Given the description of an element on the screen output the (x, y) to click on. 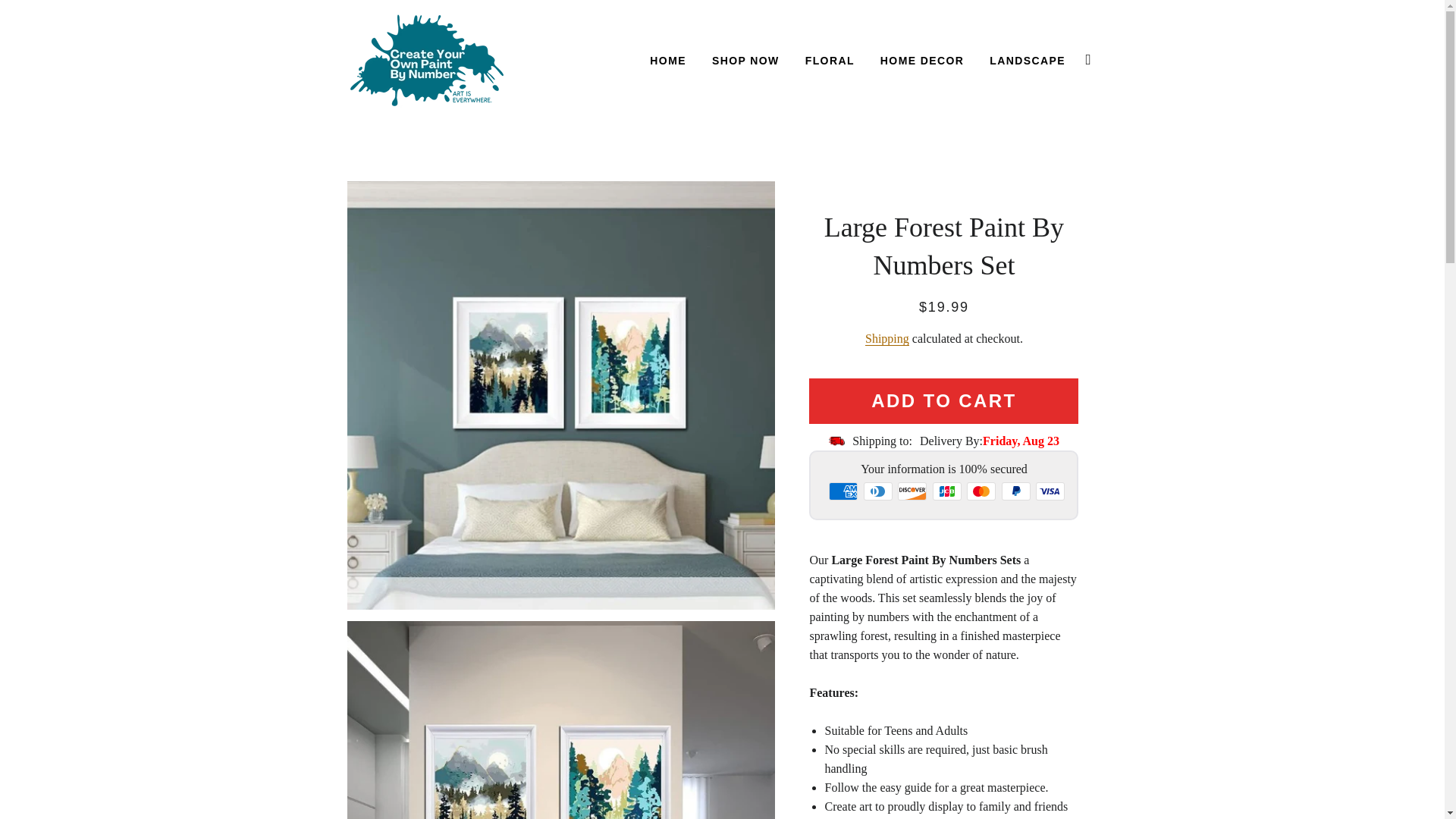
ADD TO CART (943, 401)
Shipping (886, 338)
PayPal (1015, 491)
Mastercard (980, 491)
American Express (842, 491)
JCB (946, 491)
FLORAL (829, 61)
SHOP NOW (745, 61)
HOME (668, 61)
Diners Club (877, 491)
